Given the description of an element on the screen output the (x, y) to click on. 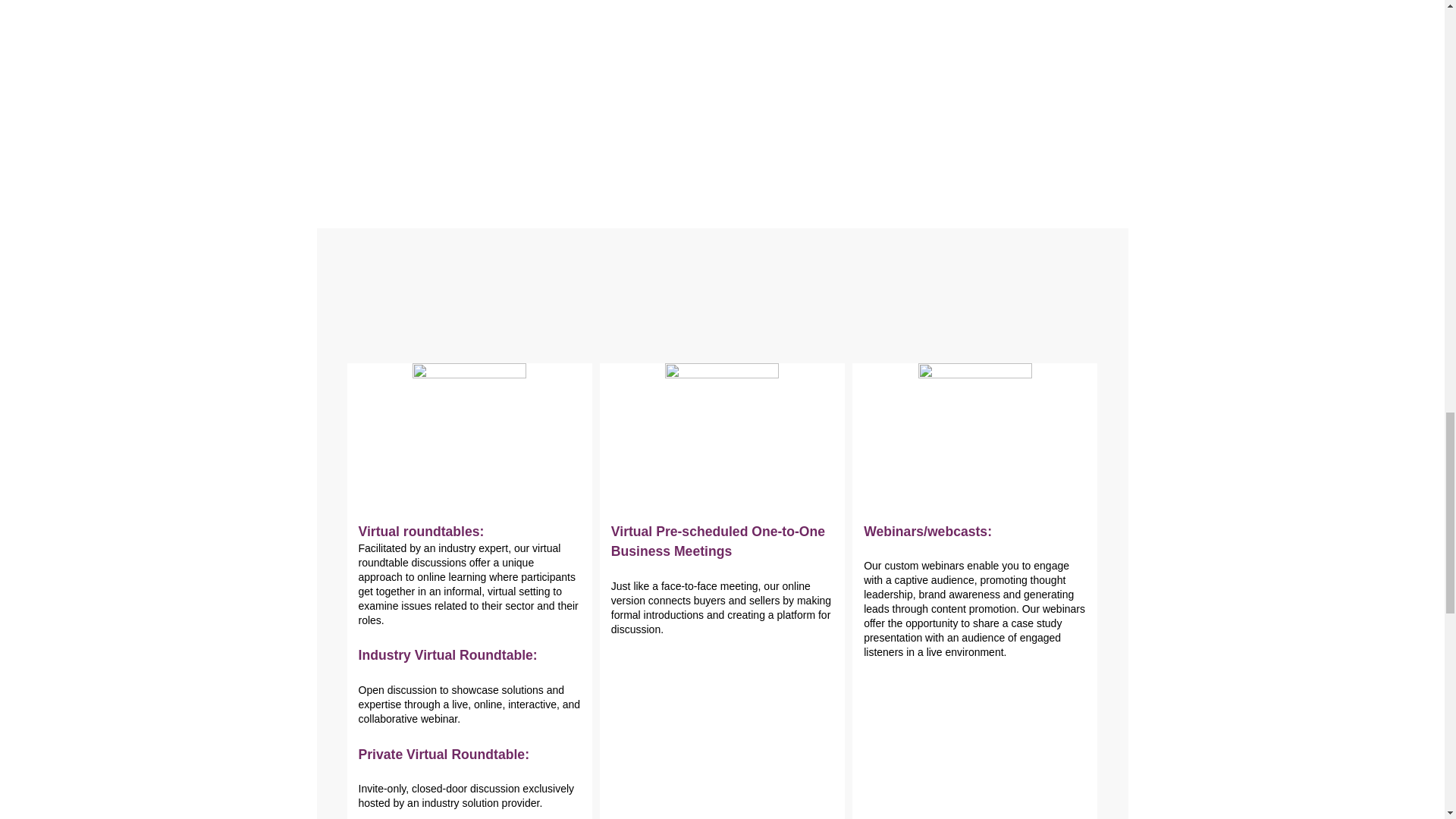
Virtual-roundtable (975, 419)
virtual-meeting (721, 419)
Virtual-roundtable (468, 419)
